Given the description of an element on the screen output the (x, y) to click on. 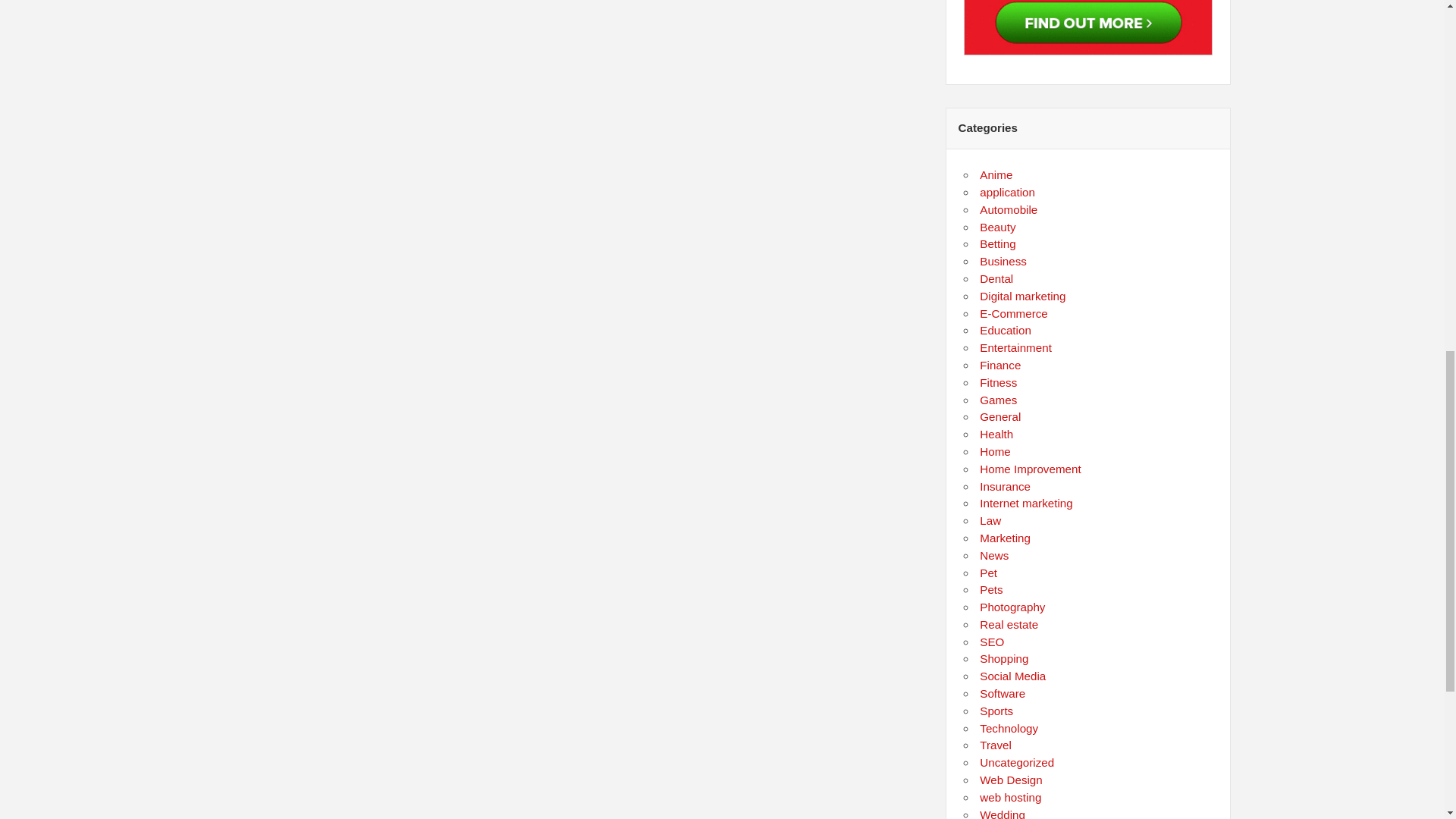
Entertainment (1015, 347)
Beauty (996, 226)
Fitness (997, 382)
E-Commerce (1012, 313)
Health (996, 433)
News (994, 554)
Insurance (1004, 486)
Home Improvement (1029, 468)
application (1007, 192)
Marketing (1004, 537)
